Given the description of an element on the screen output the (x, y) to click on. 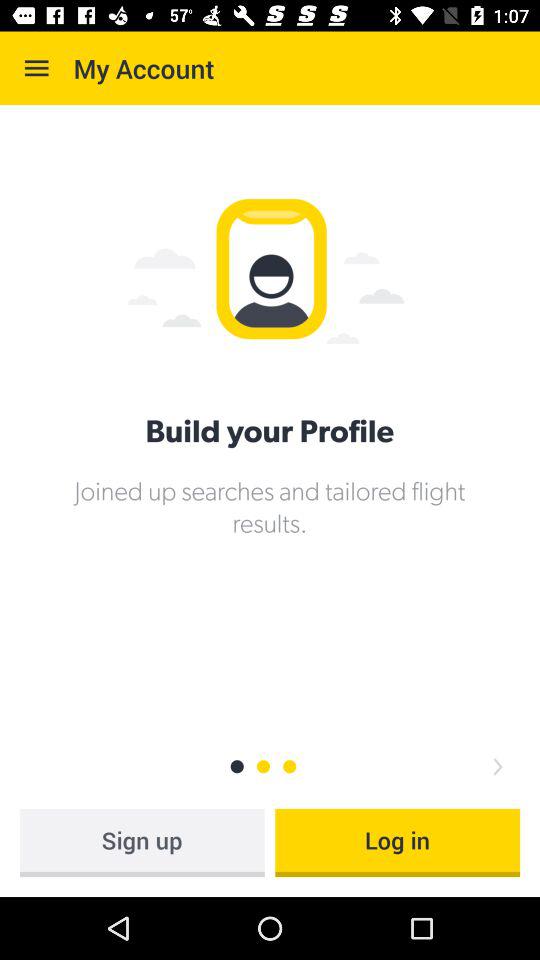
flip until sign up (141, 842)
